Given the description of an element on the screen output the (x, y) to click on. 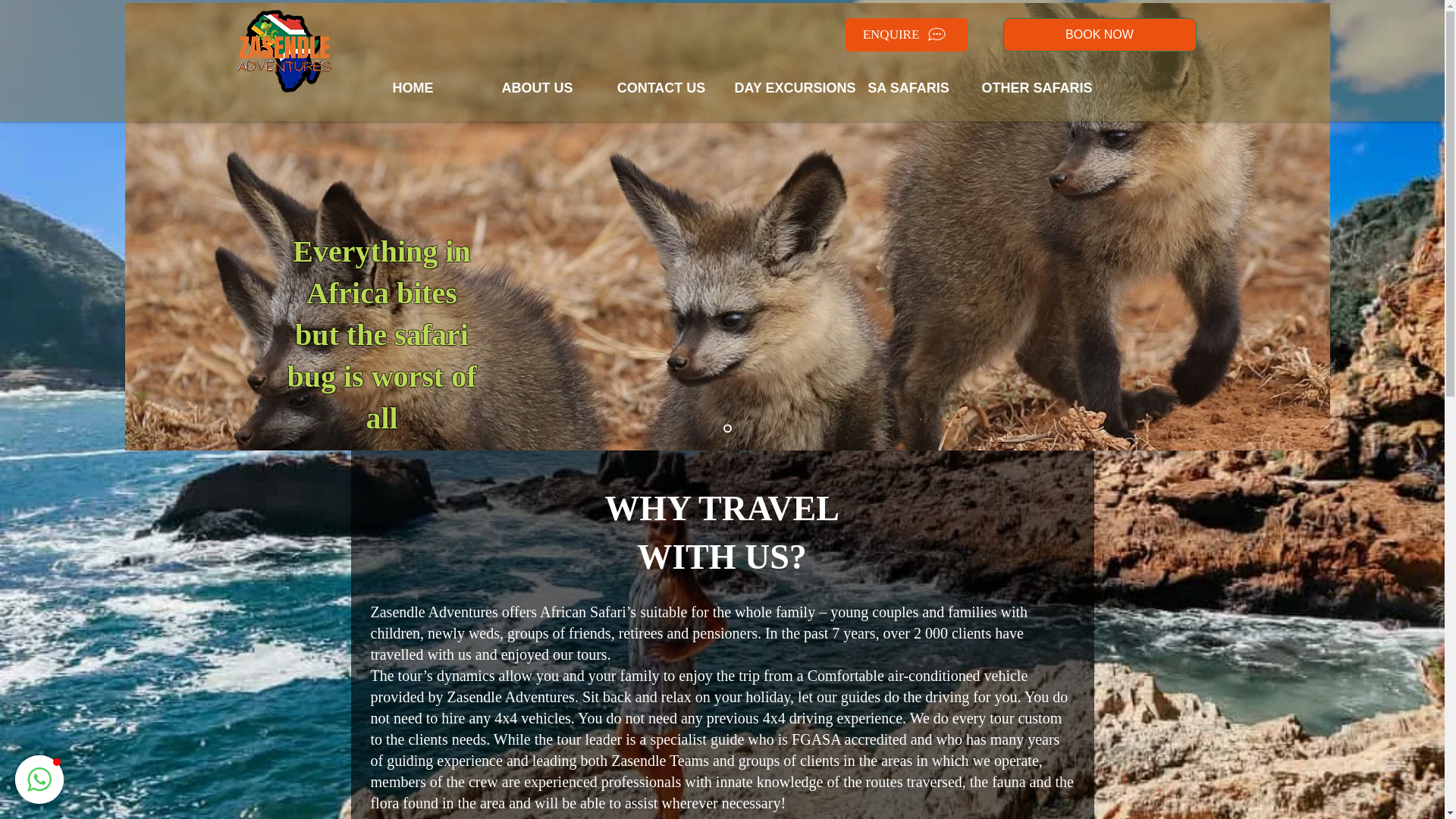
Black Rhino (284, 51)
BOOK NOW (1099, 34)
ENQUIRE (905, 34)
CONTACT US (660, 87)
HOME (412, 87)
ABOUT US (536, 87)
